Given the description of an element on the screen output the (x, y) to click on. 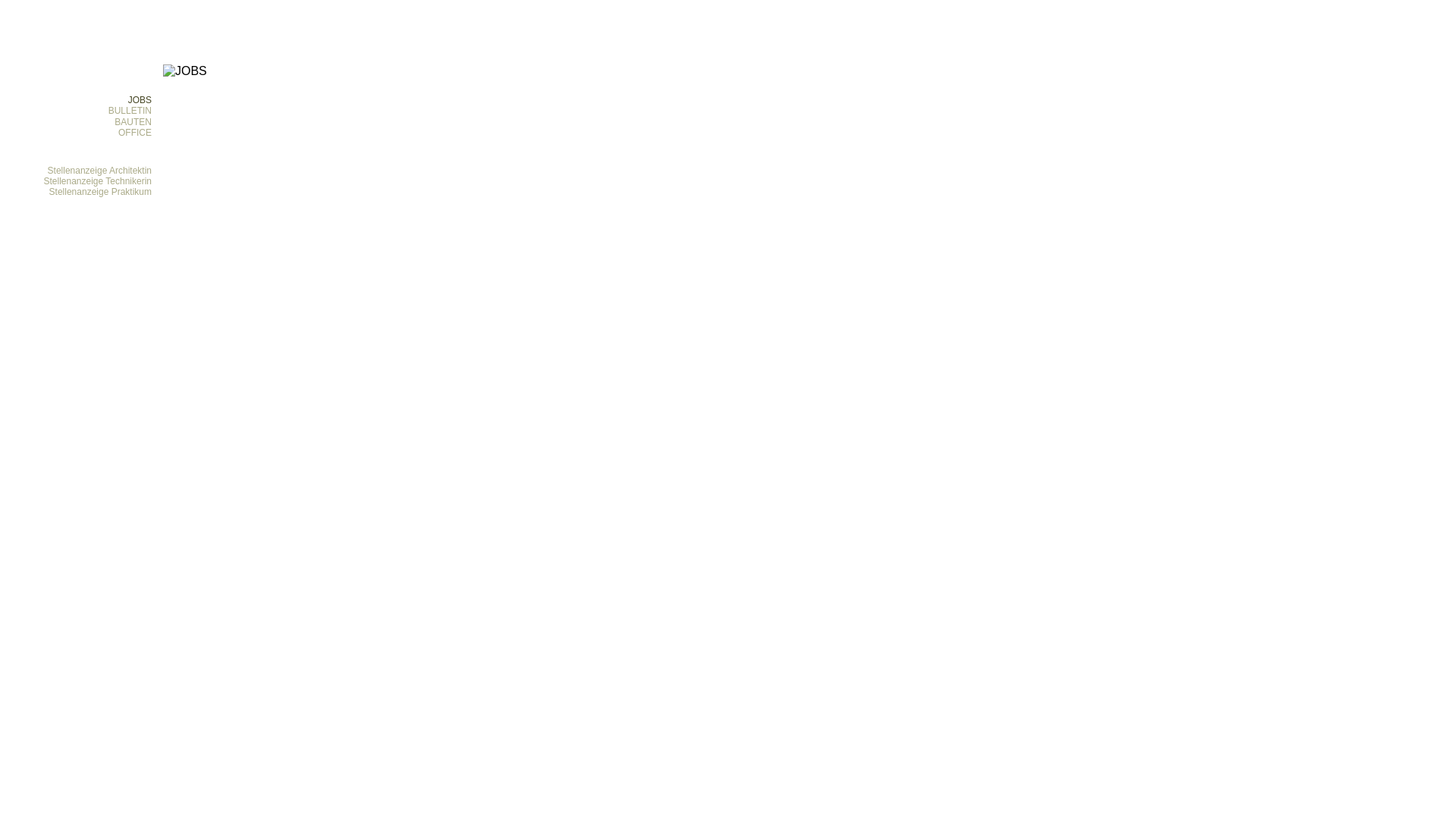
JOBS Element type: text (139, 99)
BAUTEN Element type: text (132, 121)
Stellenanzeige Technikerin Element type: text (97, 180)
OFFICE Element type: text (134, 132)
BULLETIN Element type: text (129, 110)
Stellenanzeige Architektin Element type: text (99, 170)
Stellenanzeige Praktikum Element type: text (100, 191)
